Given the description of an element on the screen output the (x, y) to click on. 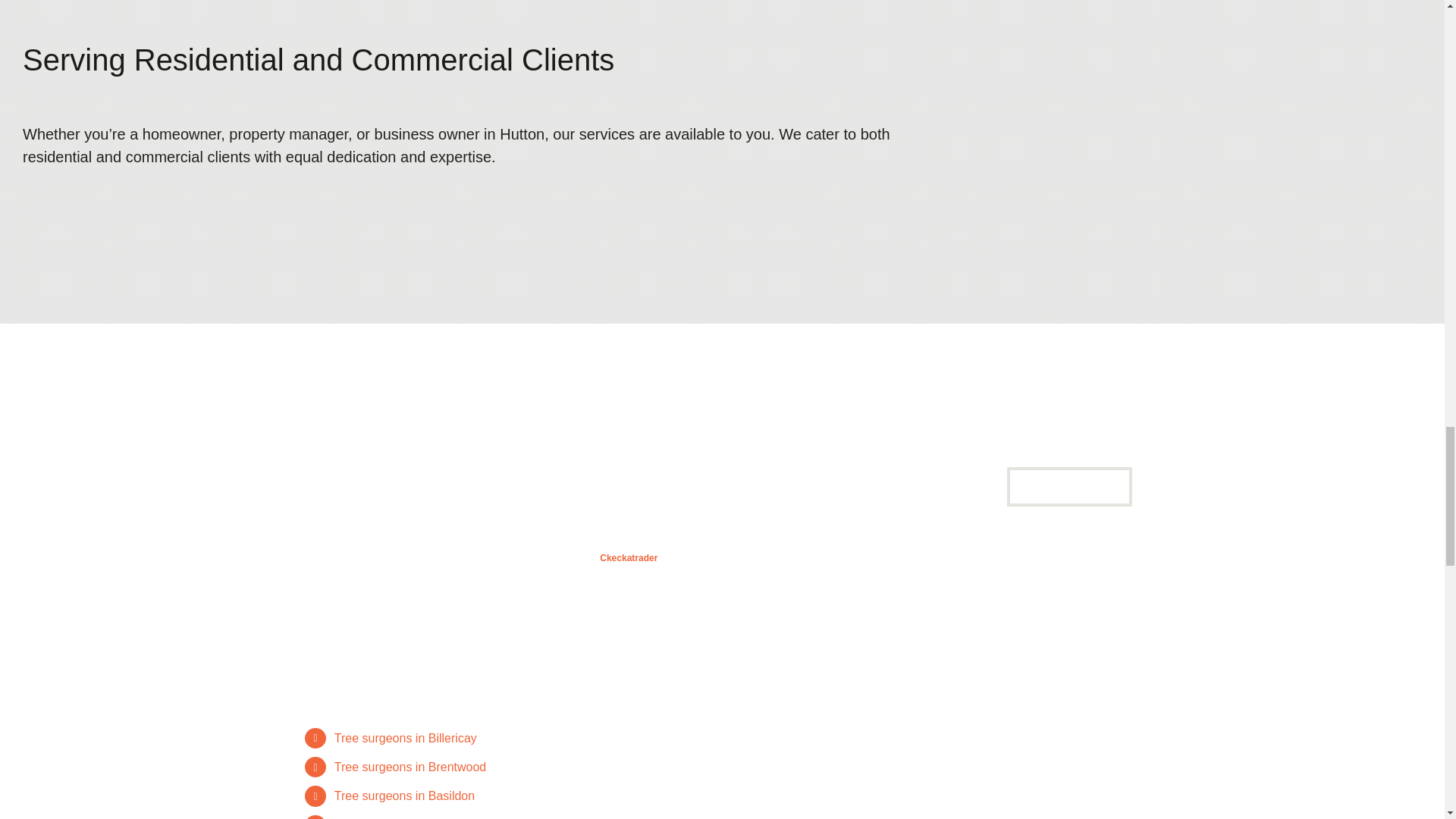
Ckeckatrader (627, 557)
Tree surgeons in Brentwood (410, 766)
Tree surgeons in Basildon (404, 795)
Tree surgeons in Billericay (405, 738)
